Given the description of an element on the screen output the (x, y) to click on. 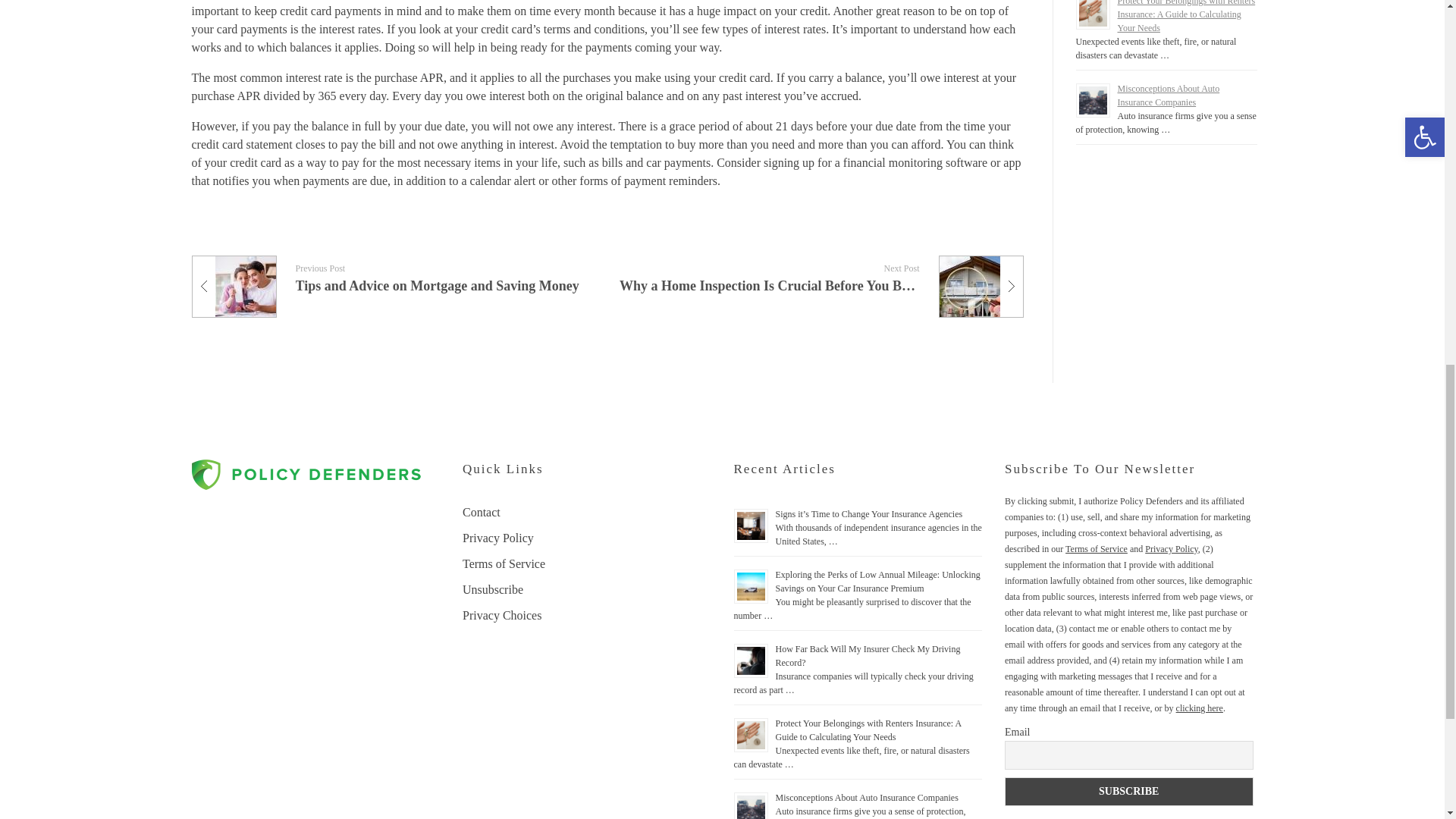
Subscribe (1128, 791)
